Given the description of an element on the screen output the (x, y) to click on. 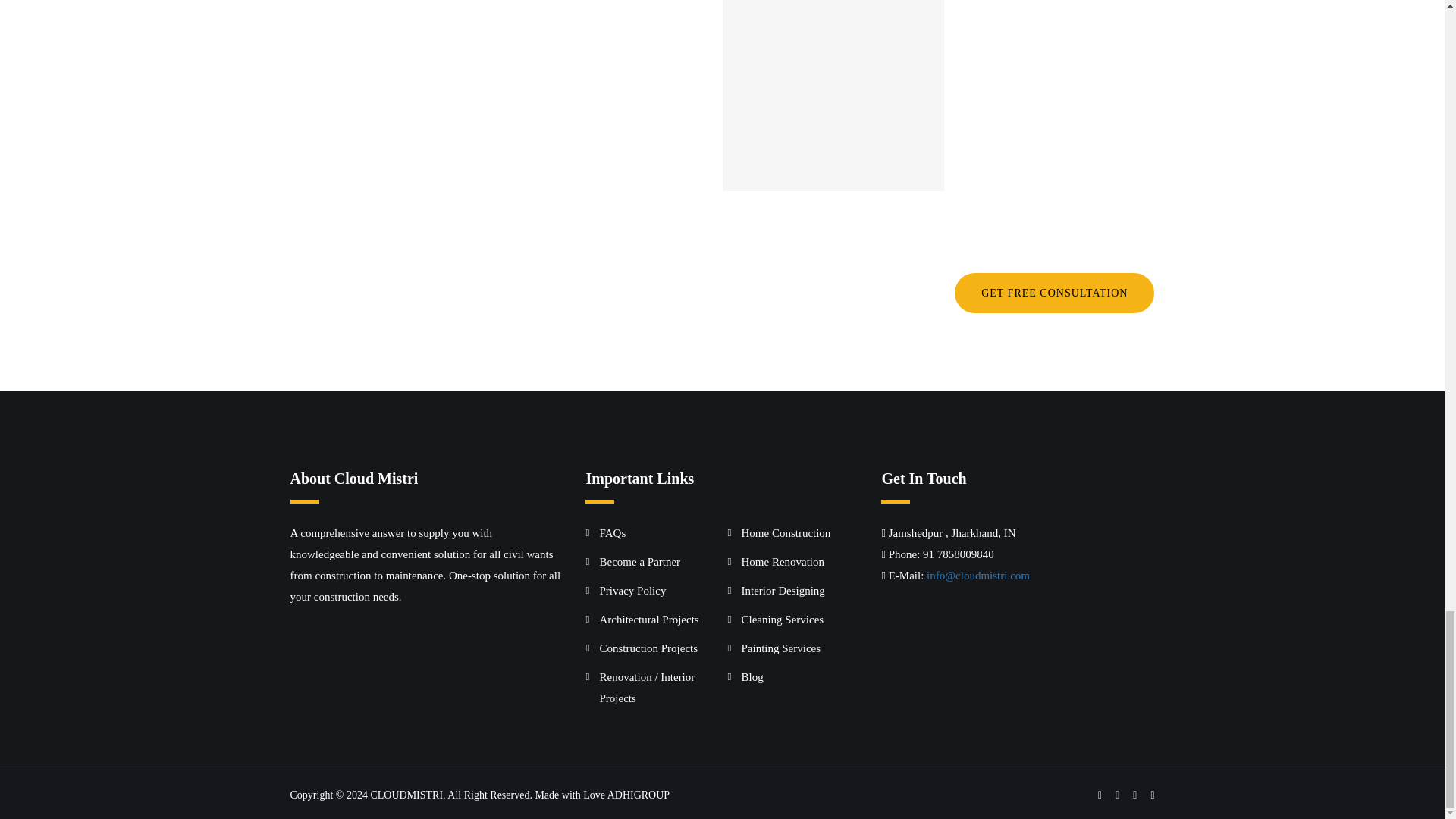
Become a Partner (638, 562)
GET FREE CONSULTATION (1054, 292)
Home Construction (785, 532)
FAQs (612, 532)
